Given the description of an element on the screen output the (x, y) to click on. 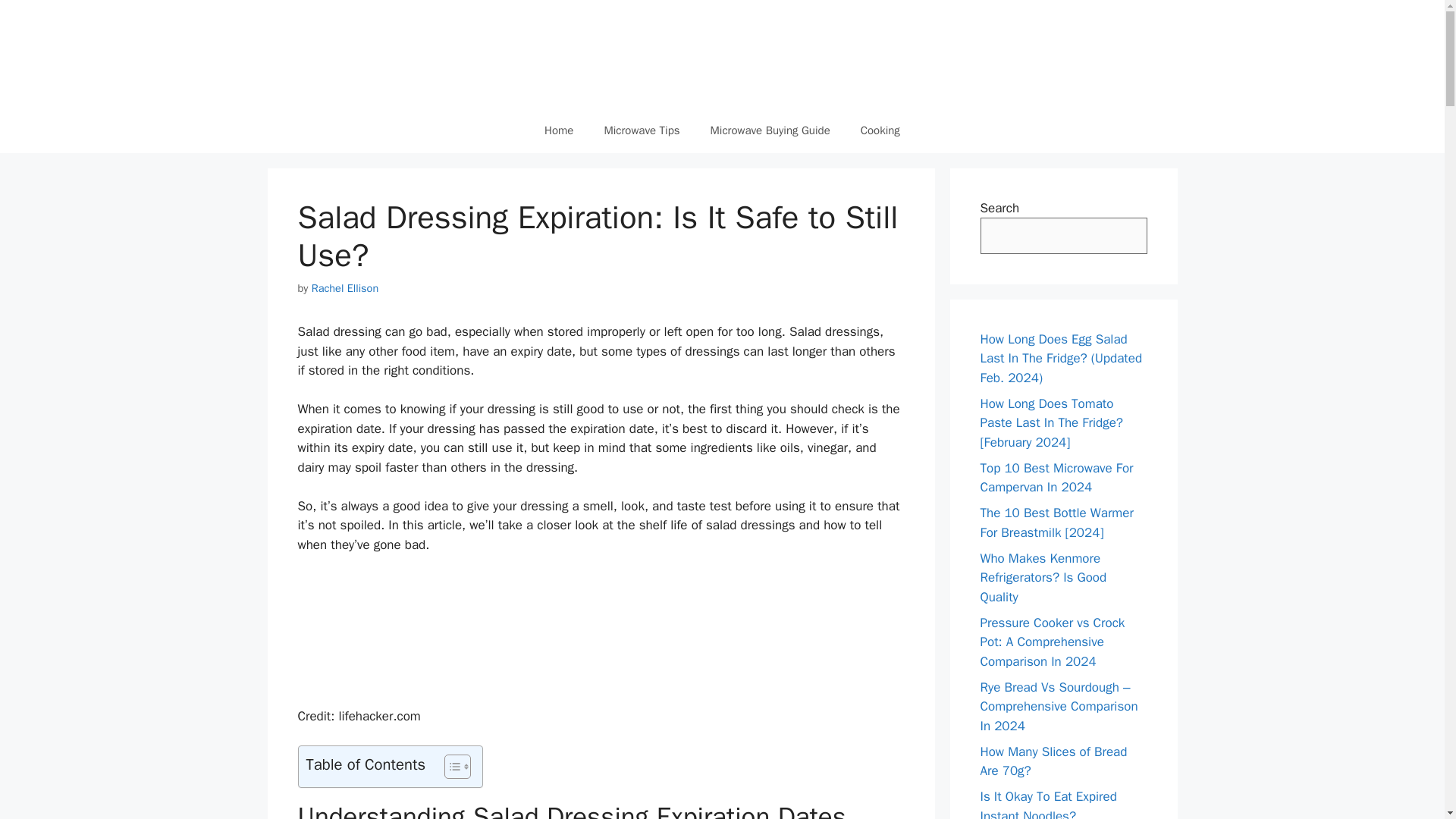
Cooking (880, 130)
Rachel Ellison (344, 287)
Top 10 Best Microwave For Campervan In 2024 (1055, 478)
View all posts by Rachel Ellison (344, 287)
Home (558, 130)
Microwave Buying Guide (770, 130)
Microwave Tips (641, 130)
Salad Dressing Expiration: Is It Safe to Still Use? (410, 630)
